Given the description of an element on the screen output the (x, y) to click on. 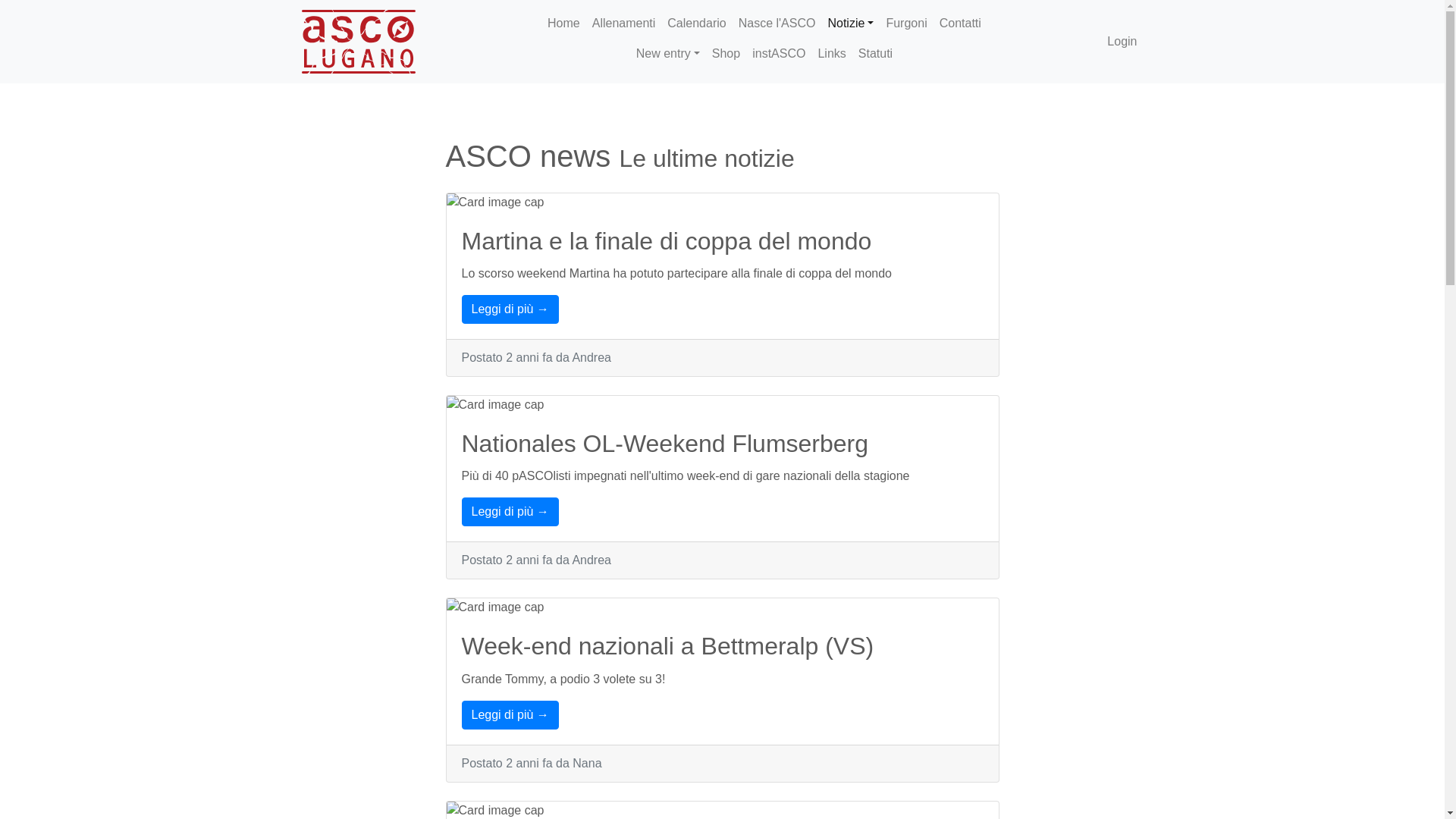
Links Element type: text (831, 53)
Login Element type: text (1121, 41)
Nasce l'ASCO Element type: text (777, 23)
Contatti Element type: text (960, 23)
Home Element type: text (563, 23)
Statuti Element type: text (875, 53)
Allenamenti Element type: text (624, 23)
Calendario Element type: text (696, 23)
instASCO Element type: text (778, 53)
Shop Element type: text (726, 53)
Notizie Element type: text (850, 23)
New entry Element type: text (668, 53)
Furgoni Element type: text (905, 23)
